Given the description of an element on the screen output the (x, y) to click on. 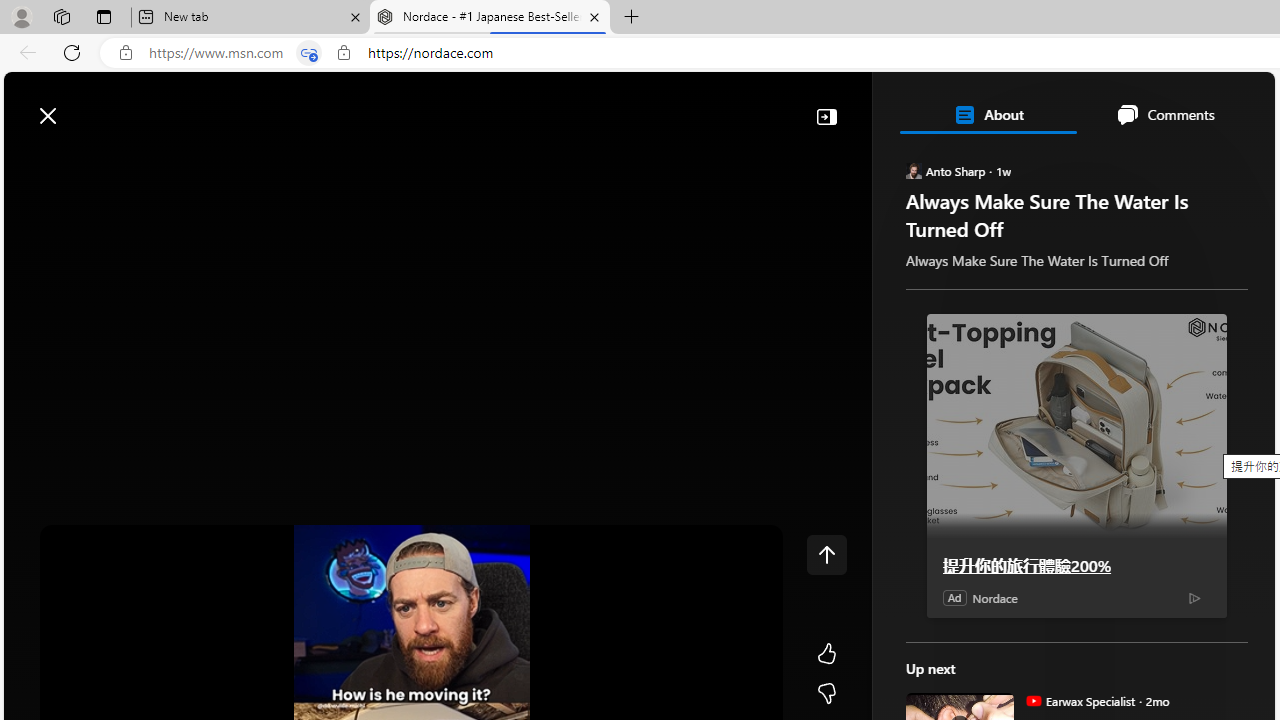
Ad Choice (1193, 597)
Web search (283, 105)
Class: control icon-only (826, 554)
Nordace - #1 Japanese Best-Seller - Siena Smart Backpack (490, 17)
Open navigation menu (29, 162)
Watch (249, 162)
Like (826, 653)
Earwax Specialist (1033, 700)
